Given the description of an element on the screen output the (x, y) to click on. 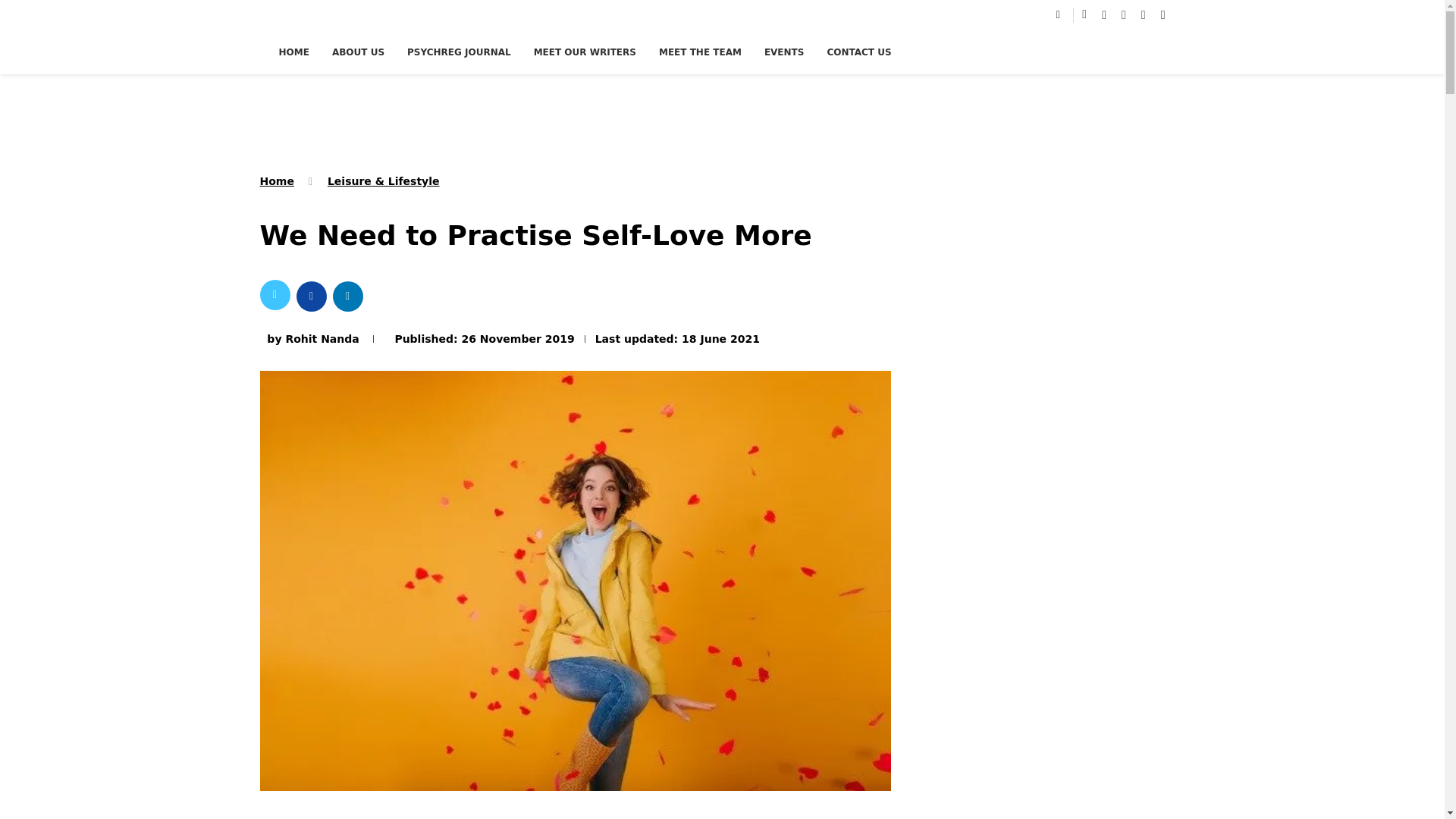
PSYCHREG JOURNAL (459, 52)
MEET THE TEAM (700, 52)
ABOUT US (357, 52)
CONTACT US (859, 52)
MEET OUR WRITERS (585, 52)
EVENTS (784, 52)
